Given the description of an element on the screen output the (x, y) to click on. 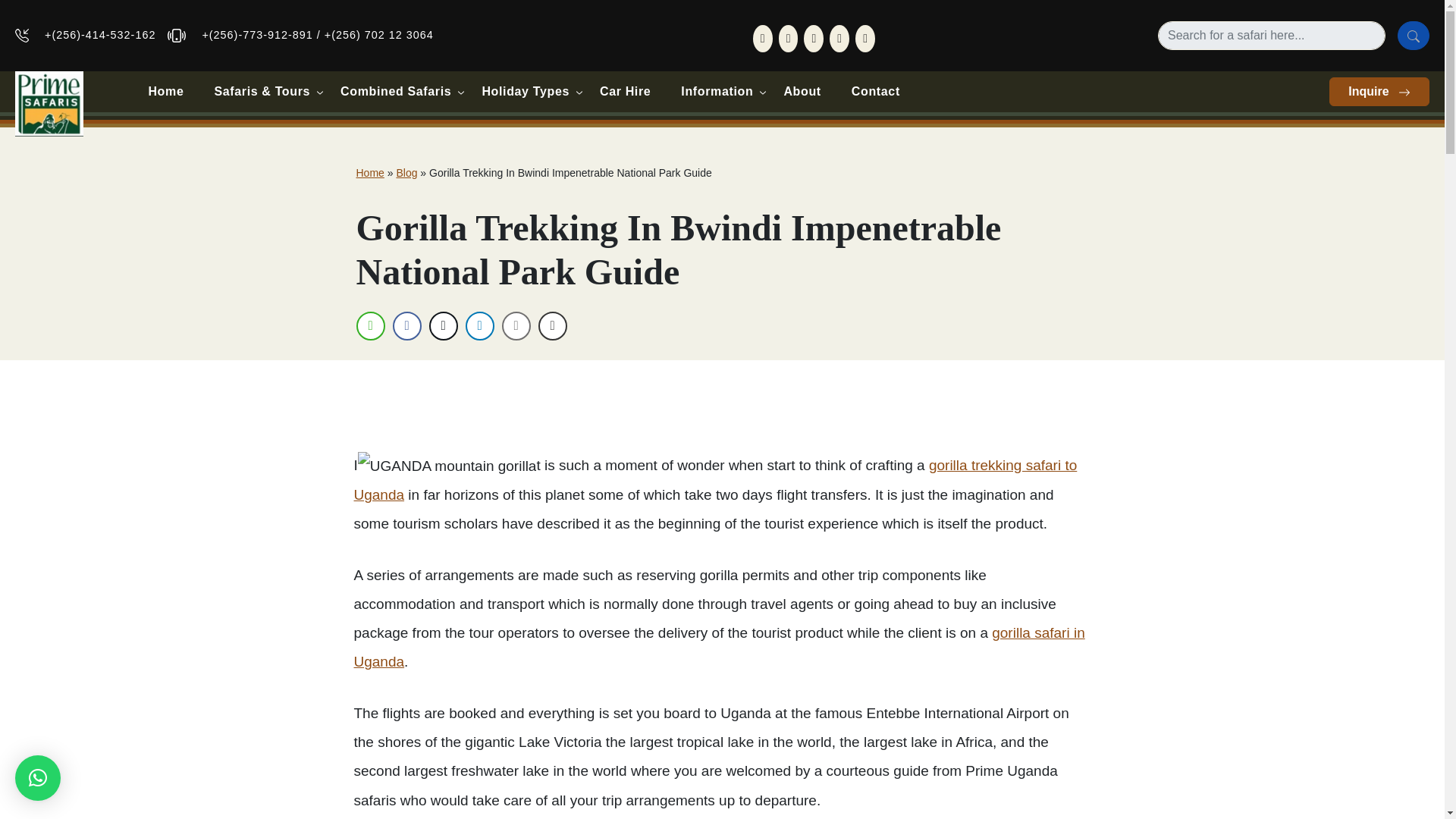
Home (165, 91)
Combined Safaris (394, 91)
Holiday Types (525, 91)
